Given the description of an element on the screen output the (x, y) to click on. 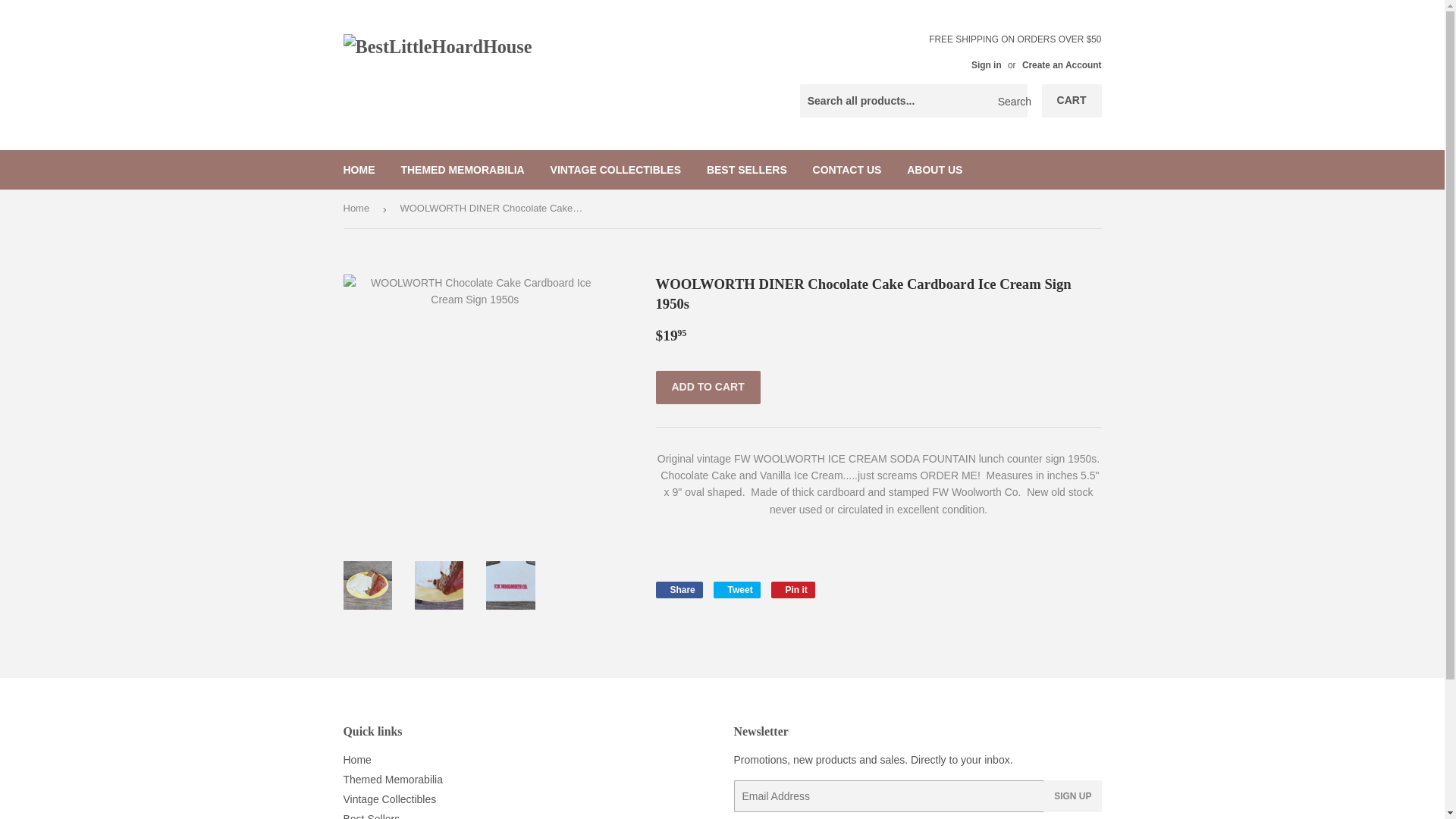
CART (1072, 100)
Share on Facebook (678, 589)
Search (1009, 101)
Tweet on Twitter (736, 589)
Create an Account (1062, 64)
Pin on Pinterest (793, 589)
Sign in (986, 64)
